Given the description of an element on the screen output the (x, y) to click on. 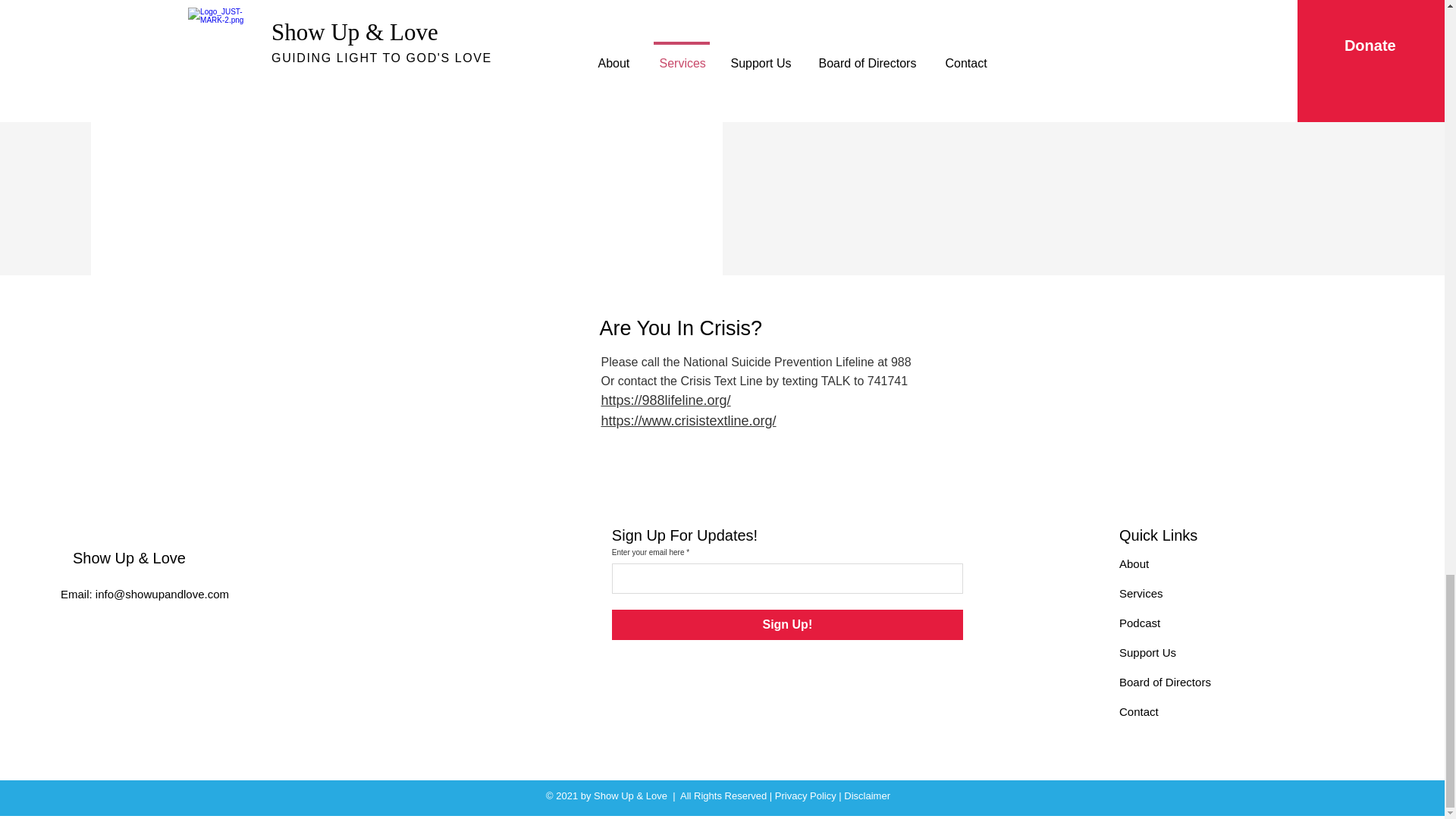
Disclaimer (866, 795)
Submit (404, 105)
Services (1141, 593)
Contact (1138, 711)
About (1133, 563)
Support Us (1147, 652)
Board of Directors (1165, 681)
Privacy Policy (804, 795)
Podcast (1139, 622)
Sign Up! (786, 624)
